Given the description of an element on the screen output the (x, y) to click on. 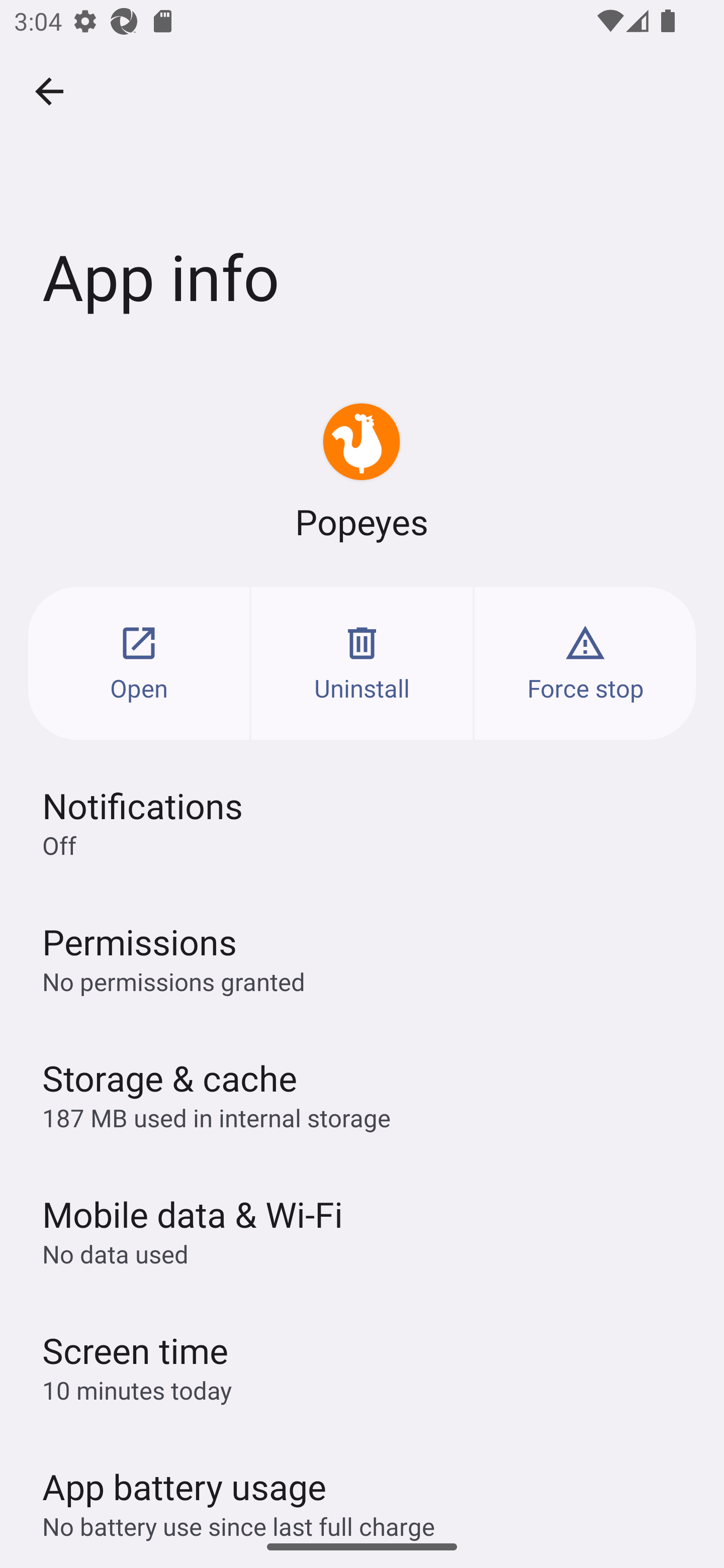
Navigate up (49, 91)
Open (138, 663)
Uninstall (361, 663)
Force stop (584, 663)
Notifications Off (362, 822)
Permissions No permissions granted (362, 957)
Storage & cache 187 MB used in internal storage (362, 1093)
Mobile data & Wi‑Fi No data used (362, 1229)
Screen time 10 minutes today (362, 1366)
